Given the description of an element on the screen output the (x, y) to click on. 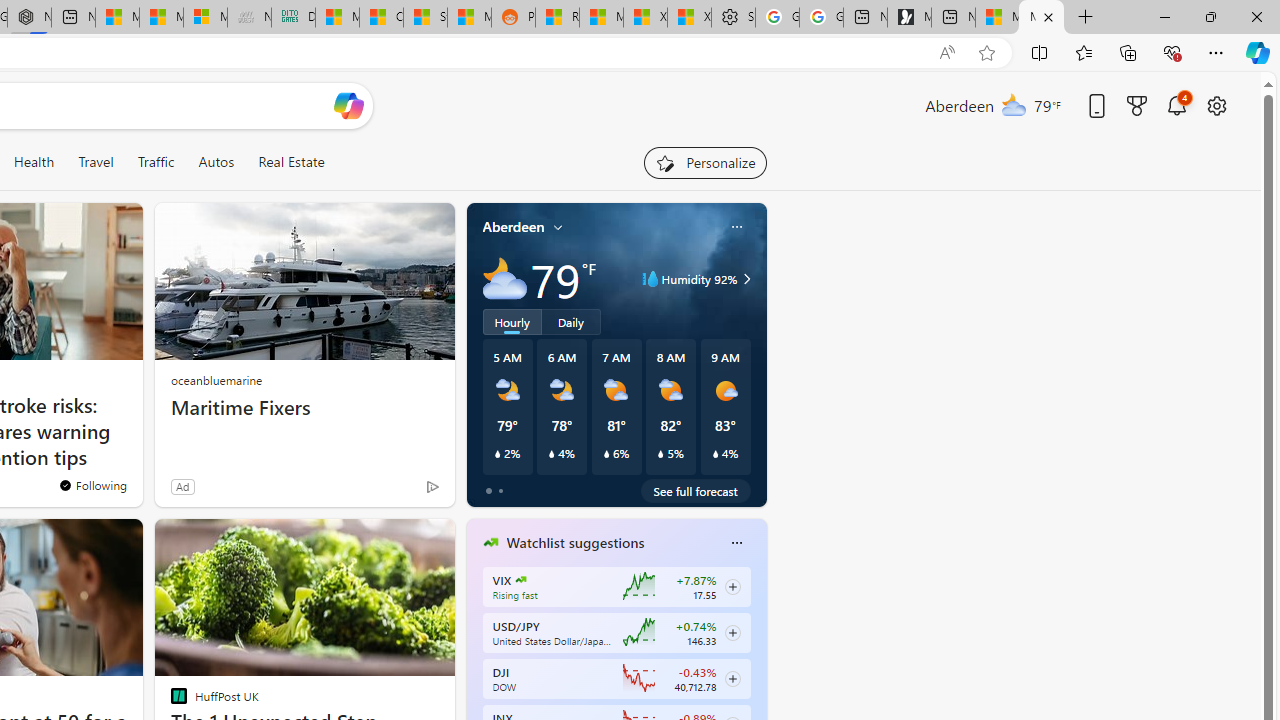
See full forecast (695, 490)
Hide this story (393, 542)
